Given the description of an element on the screen output the (x, y) to click on. 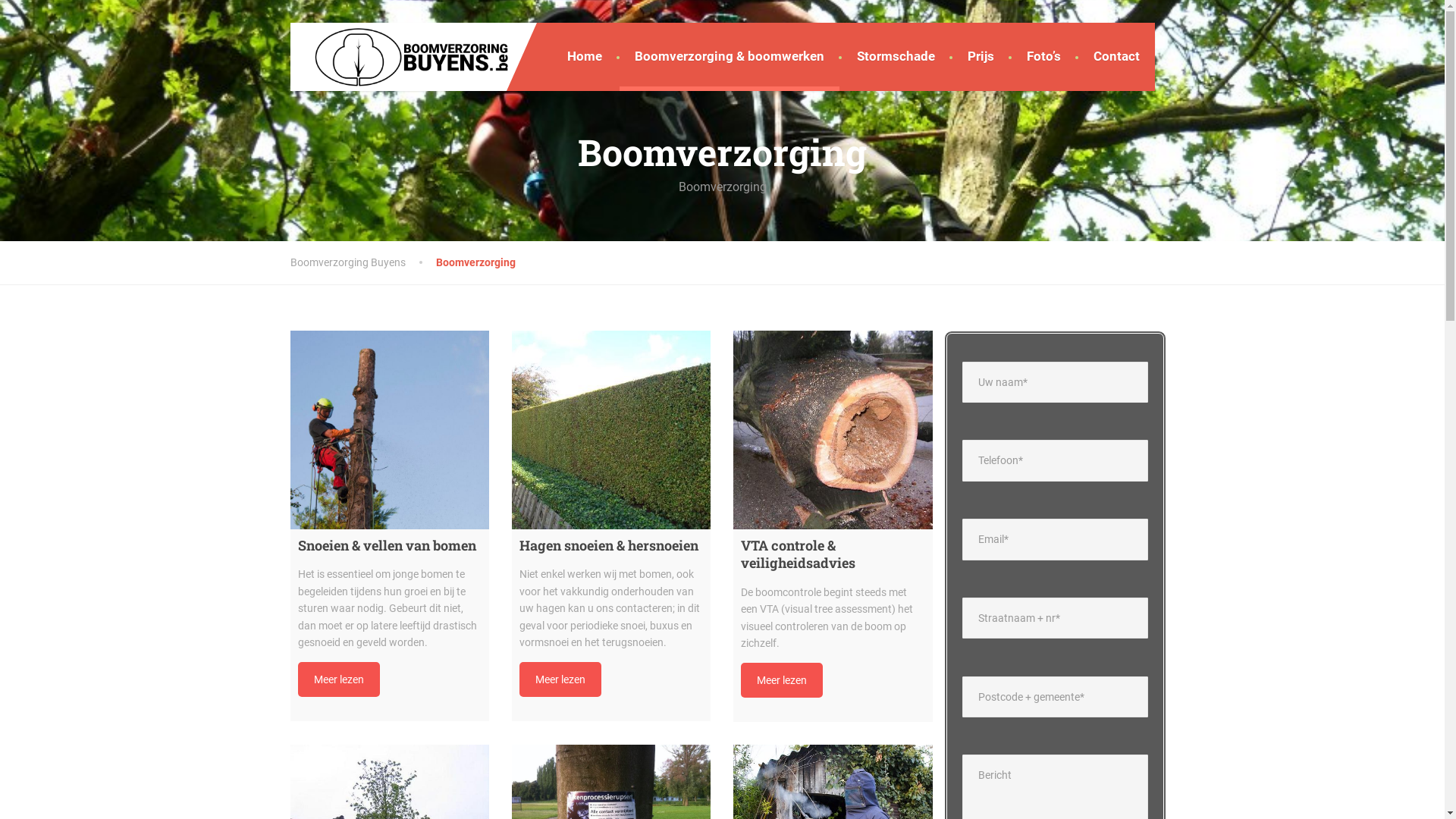
Meer lezen Element type: text (338, 679)
Boomverzorging Buyens Element type: hover (399, 54)
Home Element type: text (584, 56)
Boomverzorging Buyens Element type: text (362, 262)
Snoeien & vellen van bomen Element type: hover (388, 429)
Contact Element type: text (1116, 56)
Boomverzorging & boomwerken Element type: text (728, 56)
Stormschade Element type: text (895, 56)
Hagen snoeien & hersnoeien Element type: hover (610, 429)
Prijs Element type: text (980, 56)
Meer lezen Element type: text (560, 679)
Meer lezen Element type: text (781, 679)
VTA controle & veiligheidsadvies Element type: hover (832, 429)
